Given the description of an element on the screen output the (x, y) to click on. 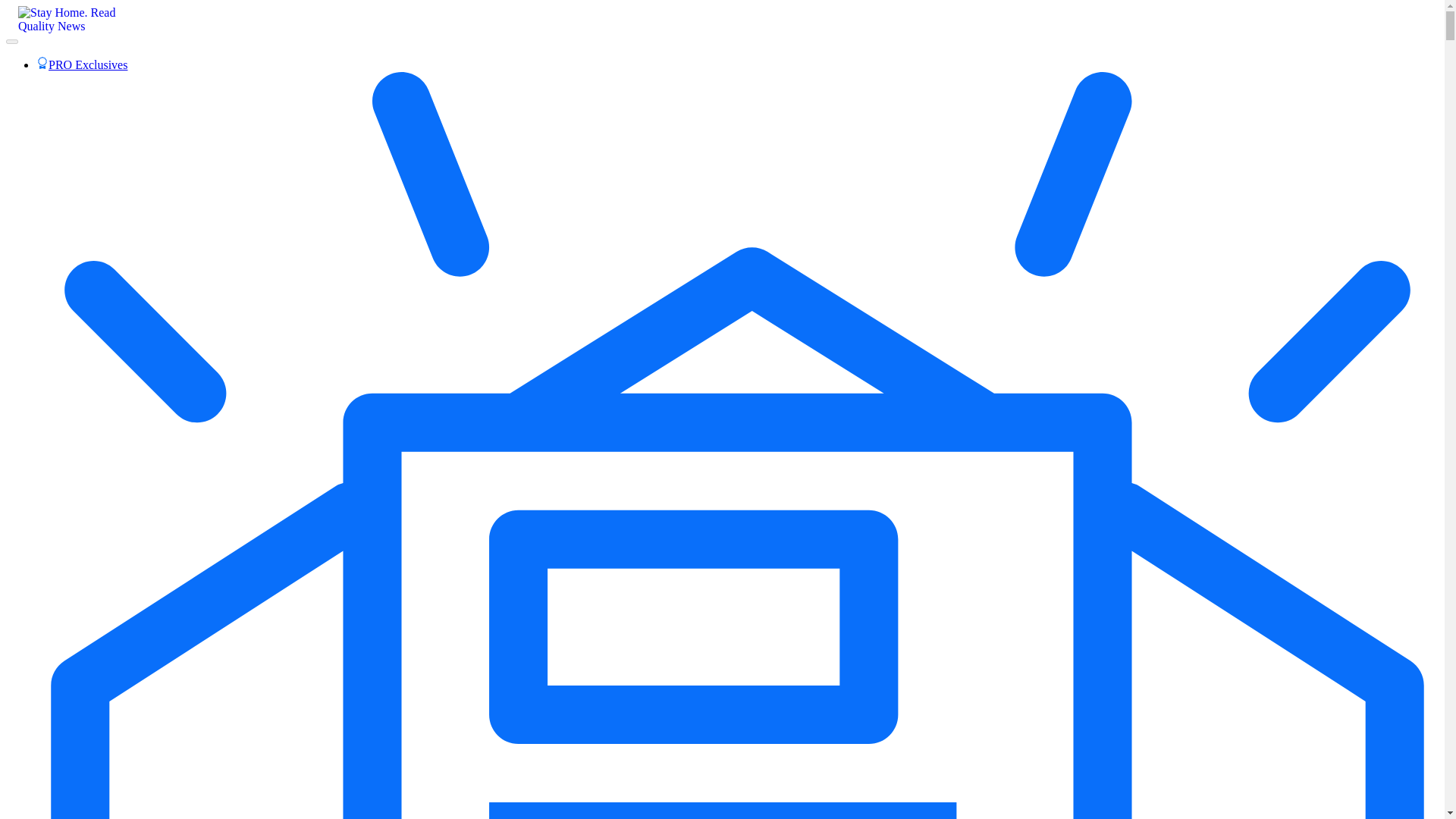
PRO Exclusives (82, 64)
Stay Home. Read Quality News (74, 23)
